Given the description of an element on the screen output the (x, y) to click on. 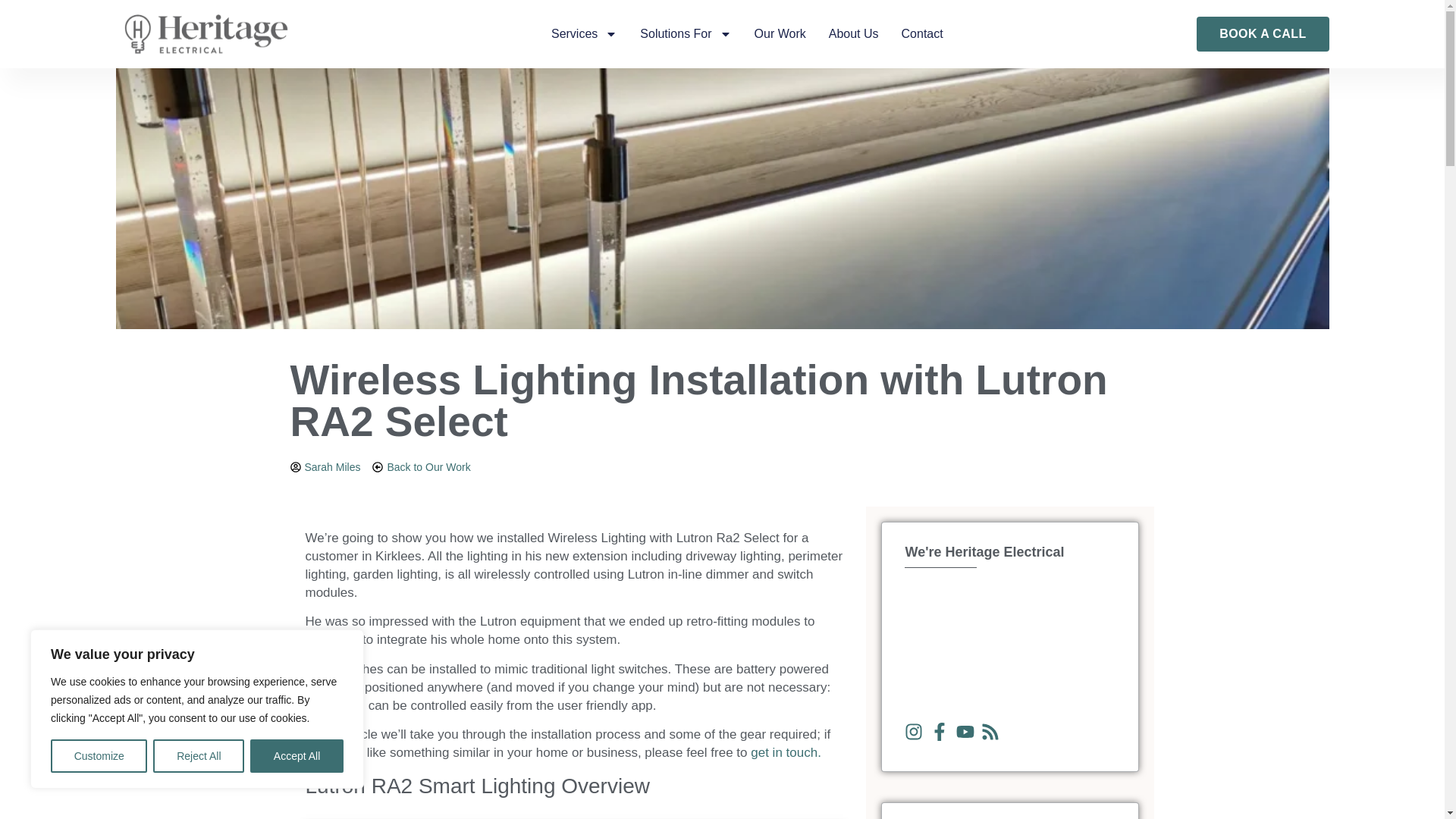
Services (584, 34)
Contact (922, 34)
Customize (98, 756)
Solutions For (685, 34)
Accept All (296, 756)
Reject All (198, 756)
About Us (853, 34)
Our Work (780, 34)
